Given the description of an element on the screen output the (x, y) to click on. 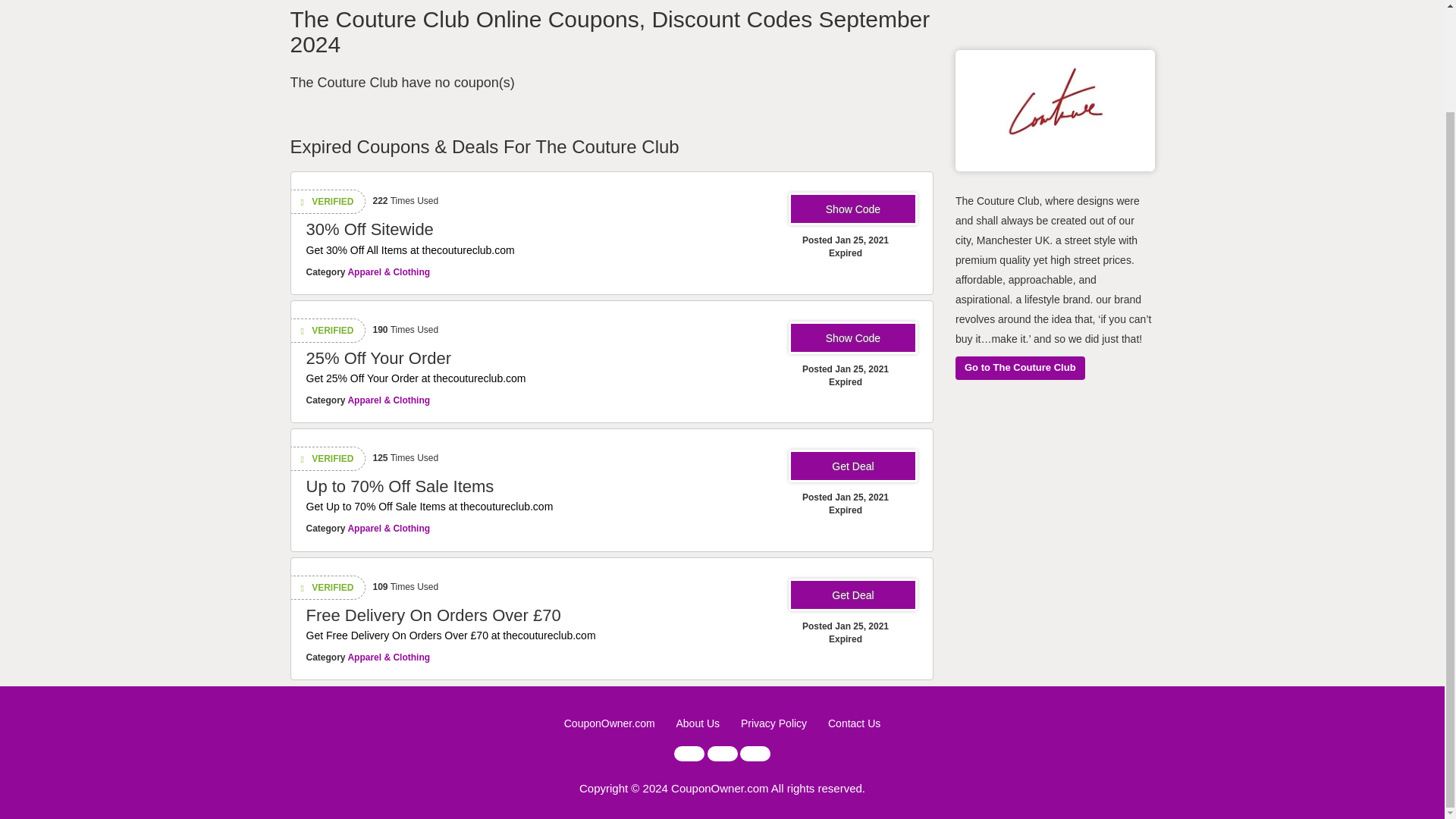
CouponOwner.com (609, 724)
Contact Us (854, 724)
Privacy Policy (773, 724)
THANKS30 (853, 208)
TORI25 (853, 337)
About Us (697, 724)
Go to The Couture Club (1019, 368)
